Given the description of an element on the screen output the (x, y) to click on. 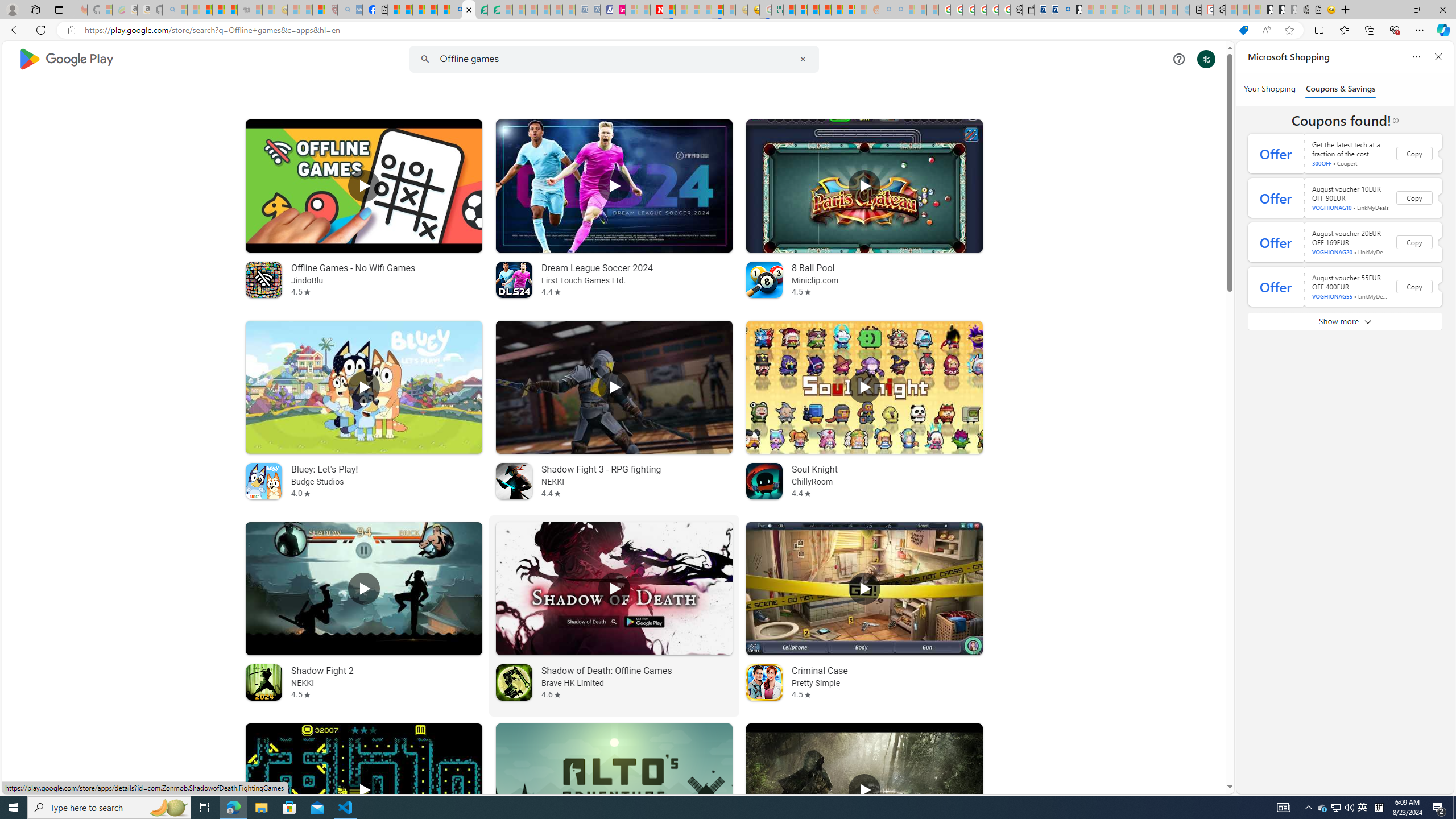
DITOGAMES AG Imprint (777, 9)
google - Search (456, 9)
Play Free Online Games | Games from Microsoft Start (1267, 9)
Cheap Car Rentals - Save70.com (1051, 9)
MSNBC - MSN (789, 9)
Trusted Community Engagement and Contributions | Guidelines (668, 9)
Google Play logo (65, 58)
Microsoft account | Privacy (801, 9)
